Given the description of an element on the screen output the (x, y) to click on. 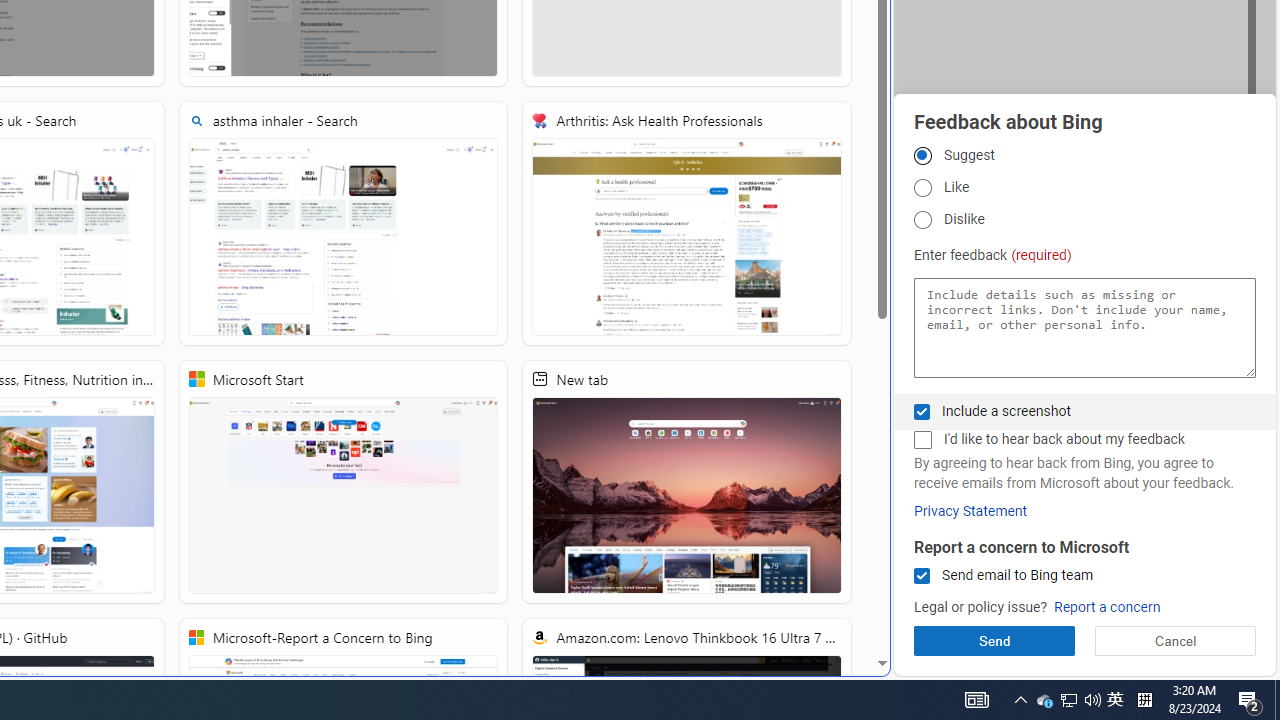
Include a screenshot (921, 411)
